Given the description of an element on the screen output the (x, y) to click on. 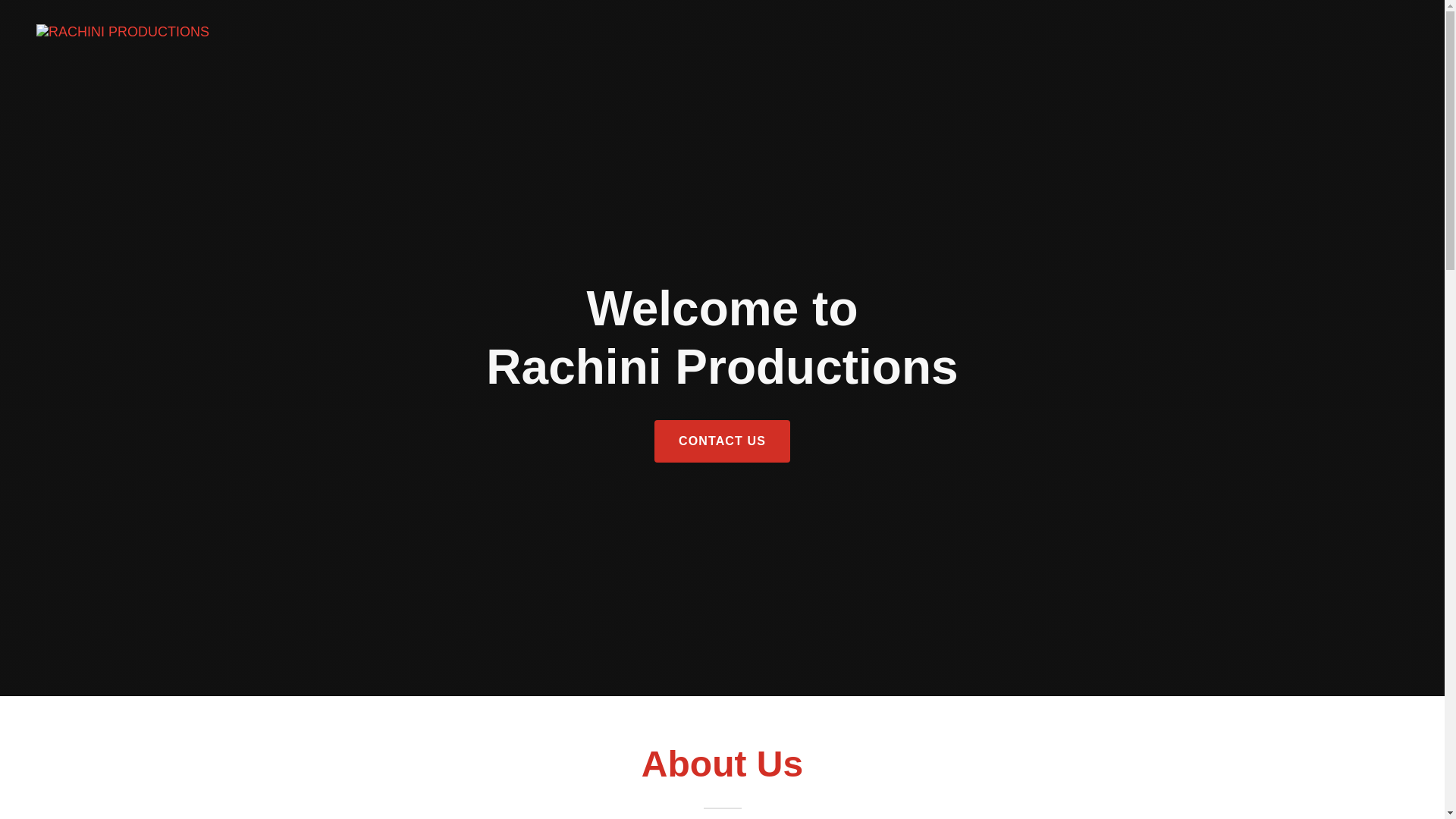
CONTACT US (721, 441)
RACHINI PRODUCTIONS (122, 31)
